Given the description of an element on the screen output the (x, y) to click on. 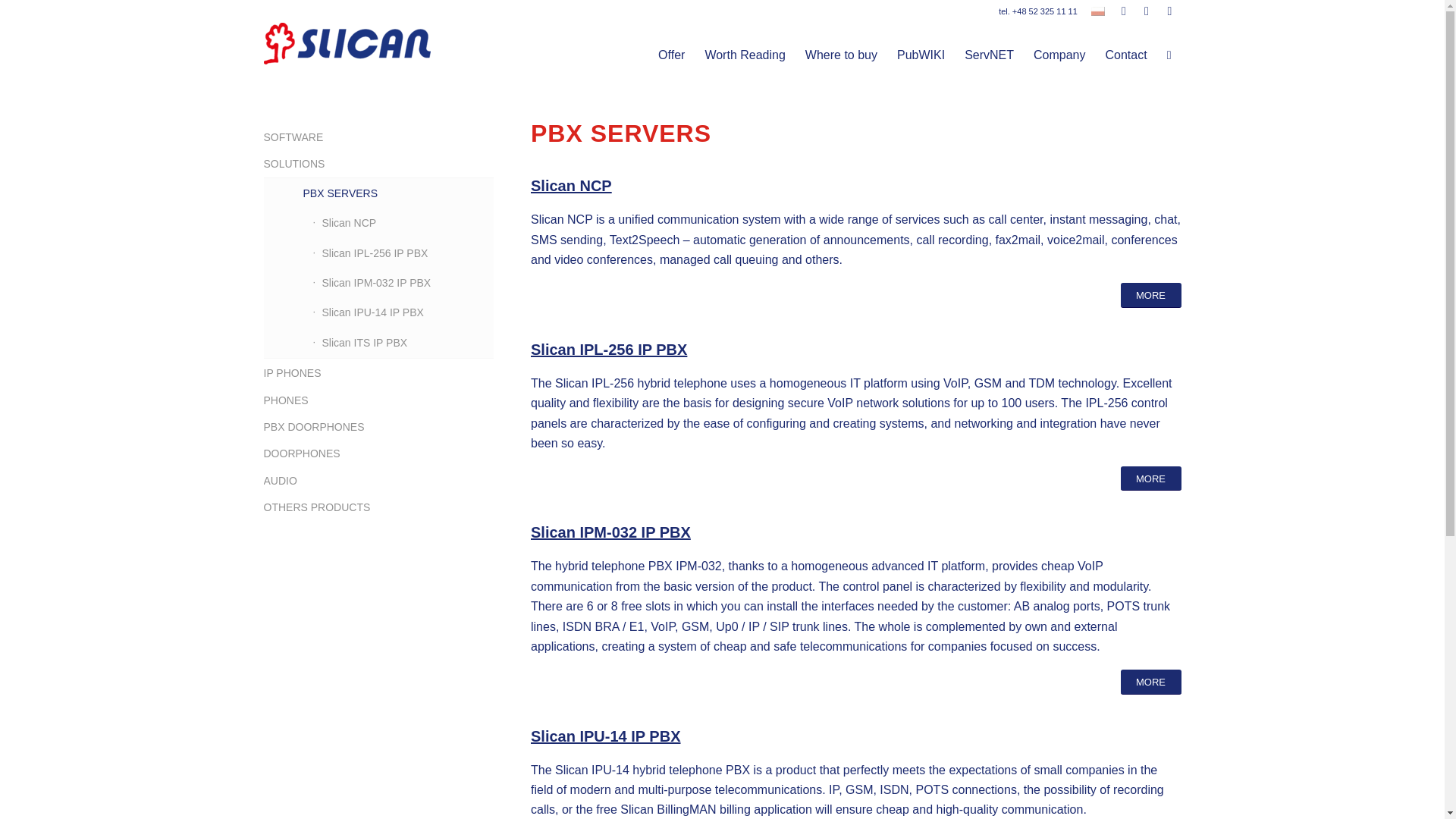
LinkedIn (1146, 11)
Mail (1169, 11)
PL (1097, 10)
logo SLICAN (346, 43)
Facebook (1124, 11)
